Given the description of an element on the screen output the (x, y) to click on. 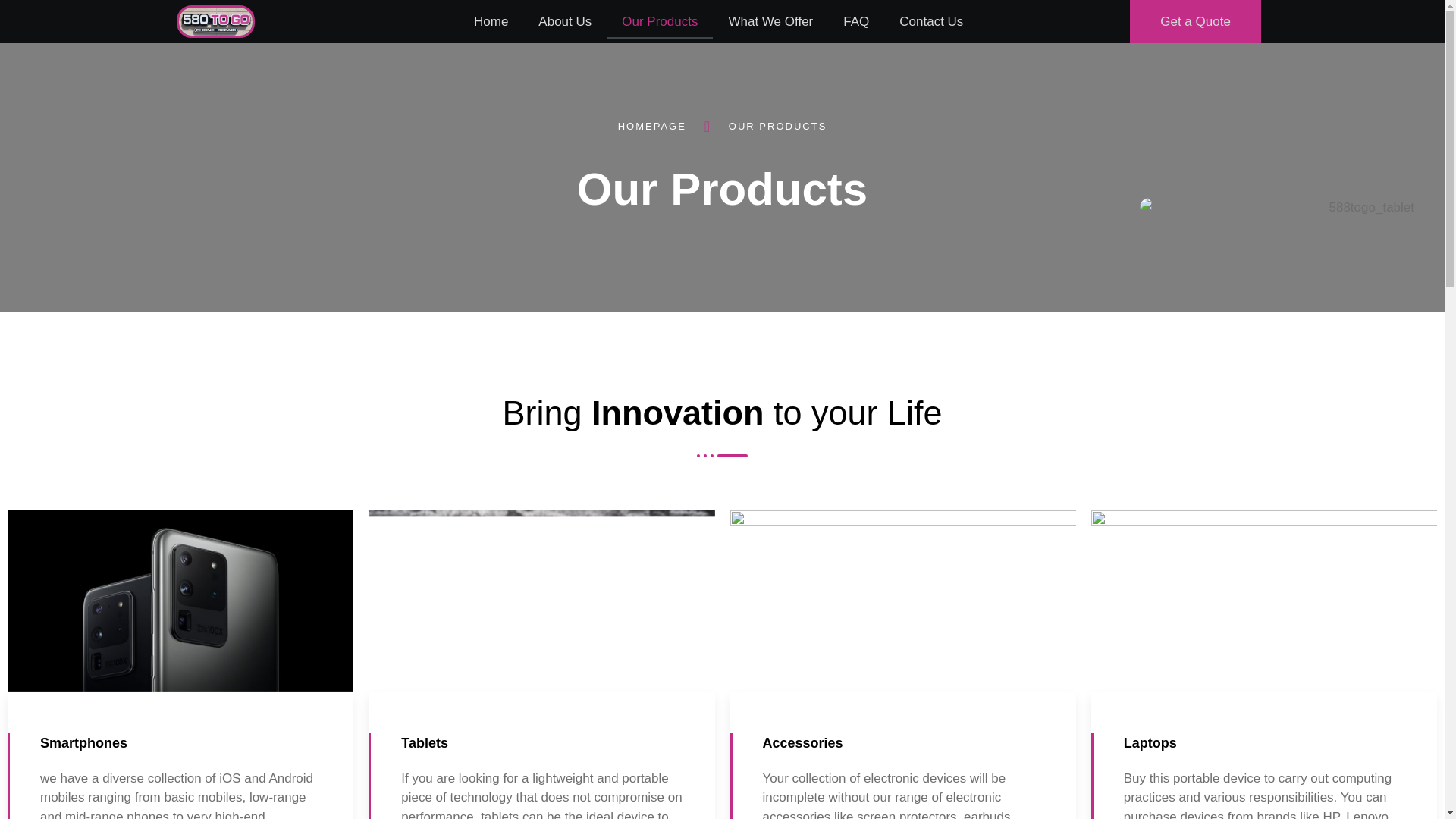
OUR PRODUCTS (762, 126)
About Us (564, 21)
Get a Quote (1194, 21)
HOMEPAGE (651, 126)
FAQ (855, 21)
Home (490, 21)
Contact Us (930, 21)
What We Offer (770, 21)
Our Products (660, 21)
